Given the description of an element on the screen output the (x, y) to click on. 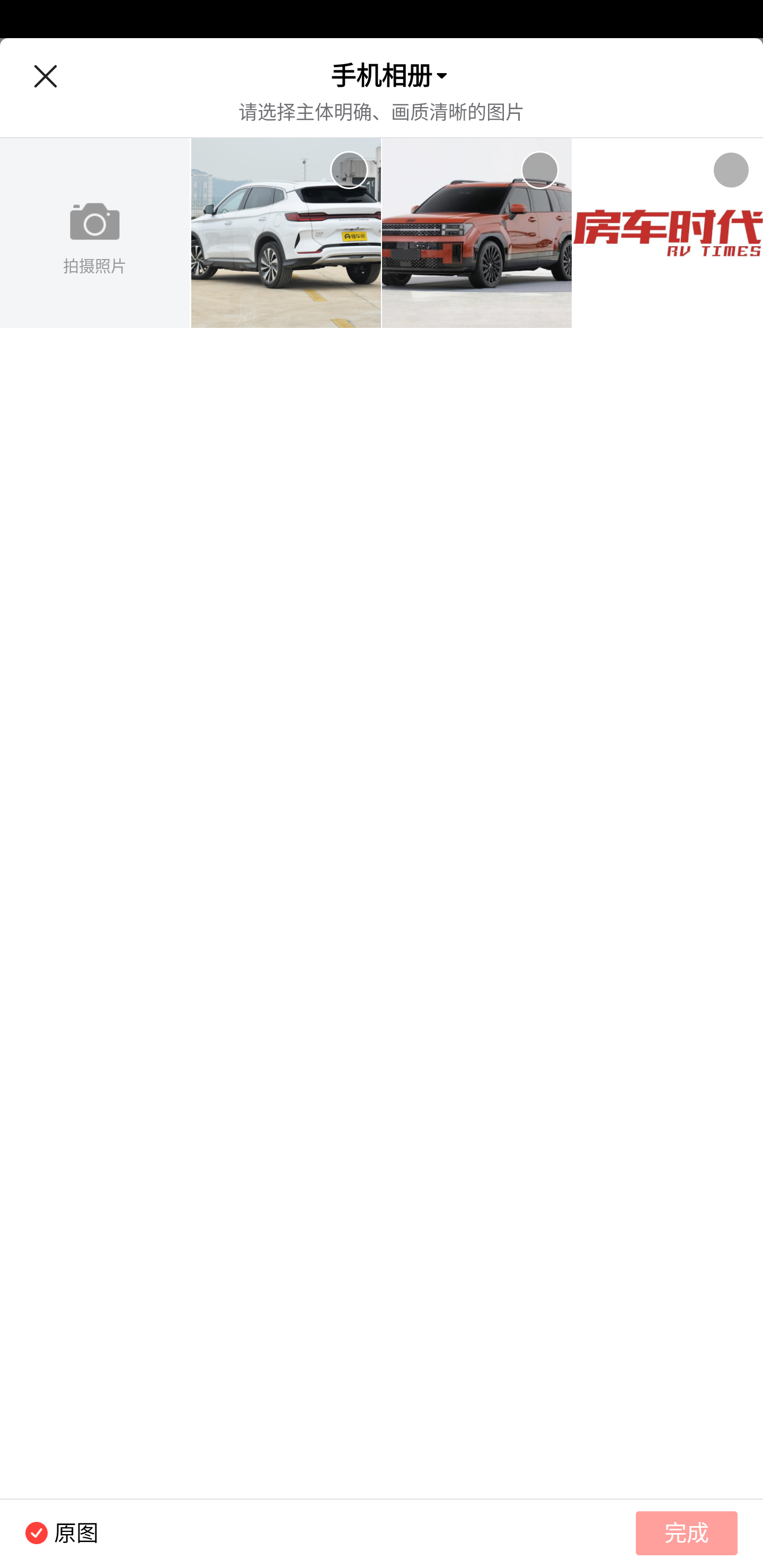
返回 (44, 75)
手机相册 (381, 75)
拍摄照片 (94, 232)
图片1 (285, 232)
未选中 (348, 169)
图片2 (476, 232)
未选中 (539, 169)
图片3 (668, 232)
未选中 (731, 169)
已选中，原图， 原图 完成 完成 (381, 1533)
已选中，原图， 原图 (49, 1533)
